Given the description of an element on the screen output the (x, y) to click on. 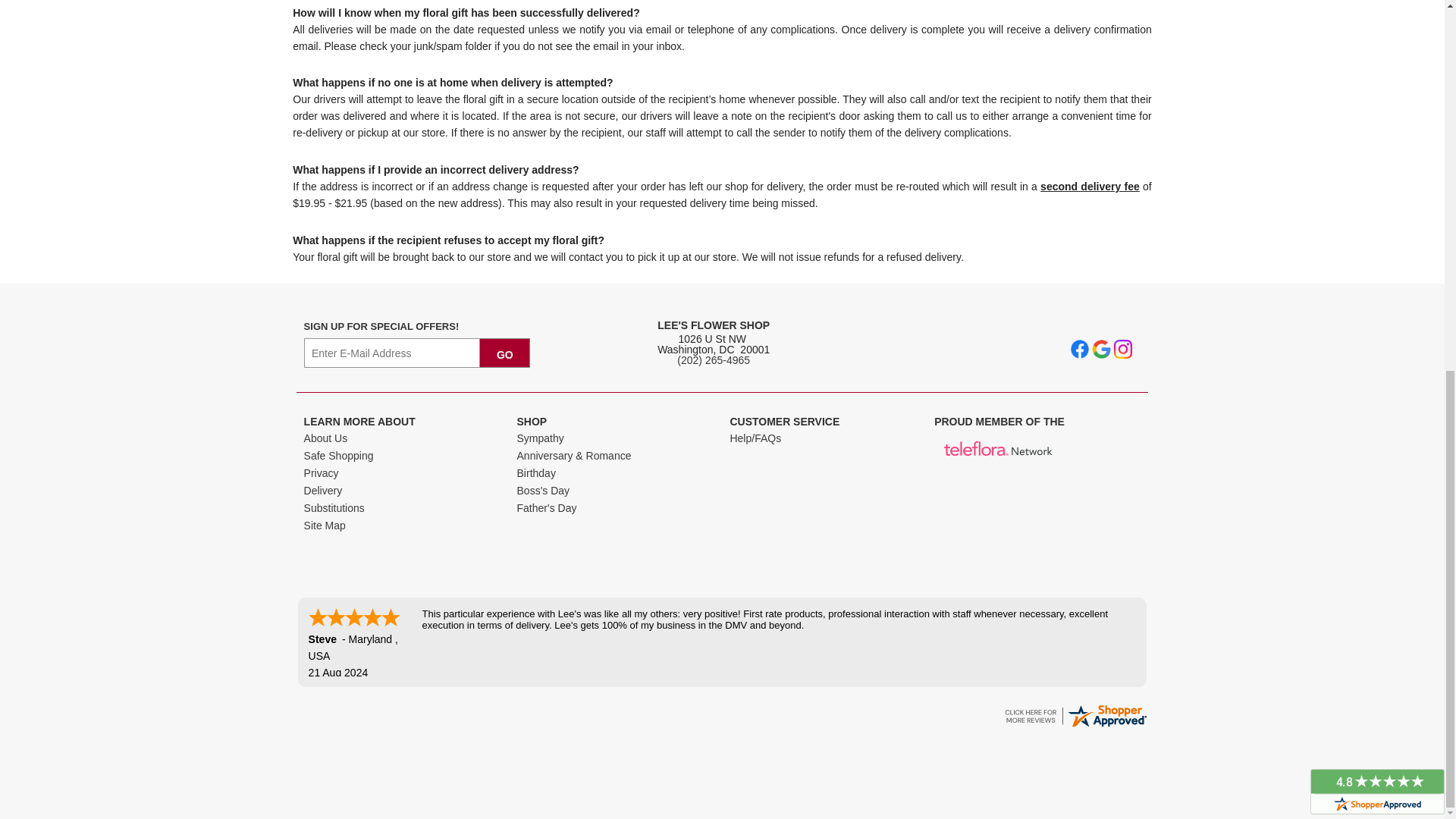
Reviews (1075, 725)
Go (504, 353)
Email Sign up (392, 353)
go (504, 353)
